Given the description of an element on the screen output the (x, y) to click on. 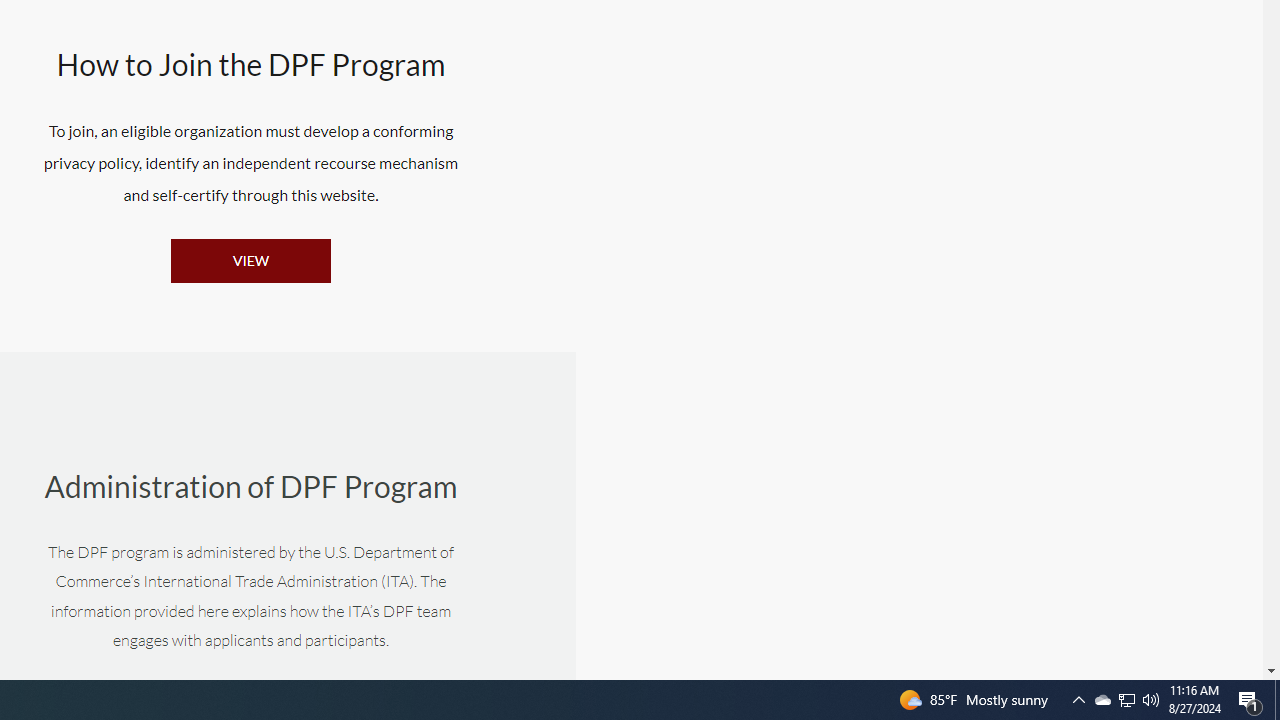
VIEW (251, 260)
